Given the description of an element on the screen output the (x, y) to click on. 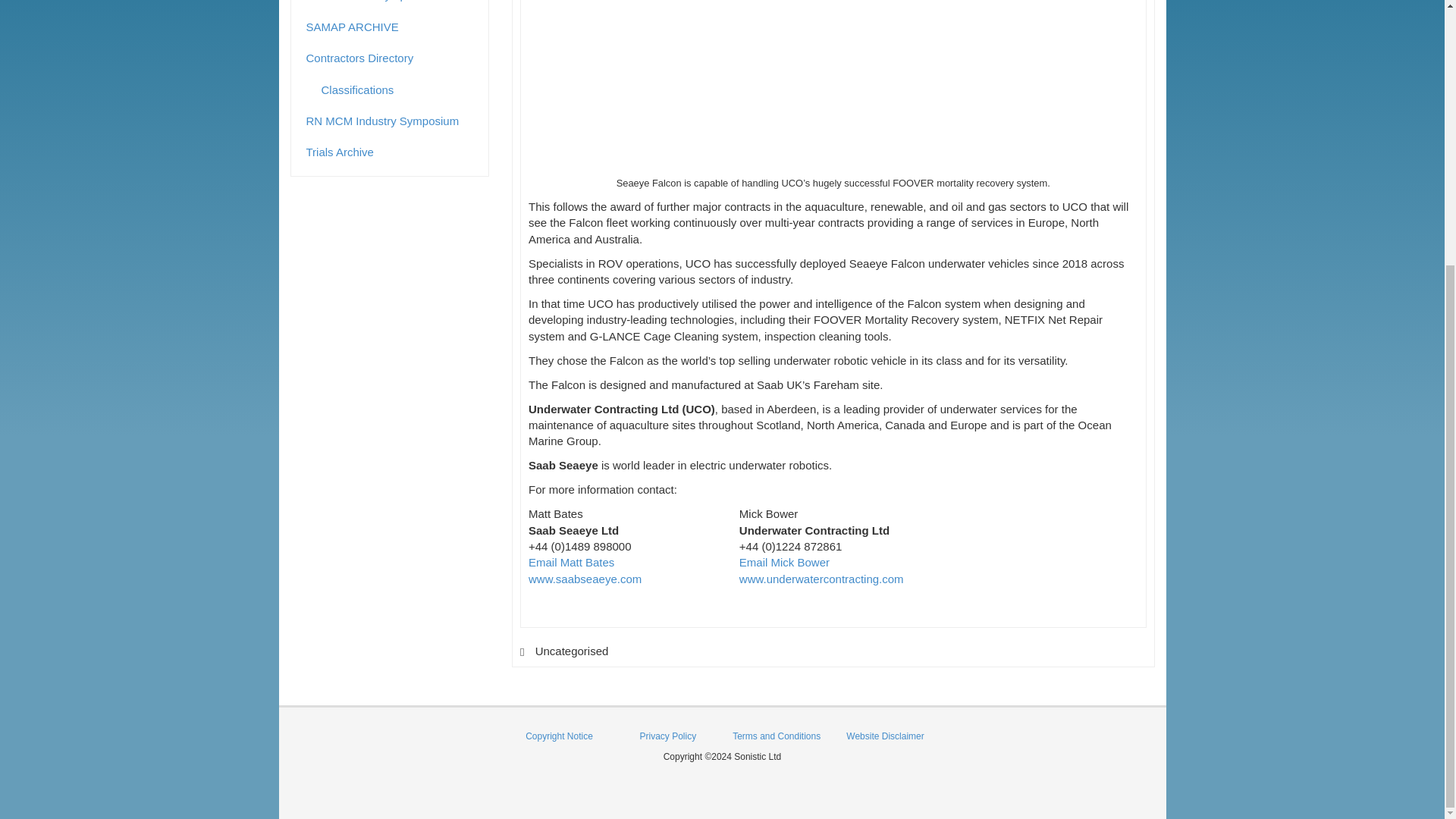
Posted in (521, 652)
Terms and Conditions (776, 736)
Email Mick Bower (784, 562)
SAMAP ARCHIVE (389, 26)
Classifications (397, 89)
RN MCM Industry Symposium (389, 120)
Email Matt Bates (571, 562)
Website Disclaimer (884, 736)
Privacy Policy (667, 736)
Copyright Notice (558, 736)
www.underwatercontracting.com (821, 578)
Contractors Directory (389, 57)
SAMAP 2024 Symposium (389, 5)
Trials Archive (389, 151)
www.saabseaeye.com (585, 578)
